Given the description of an element on the screen output the (x, y) to click on. 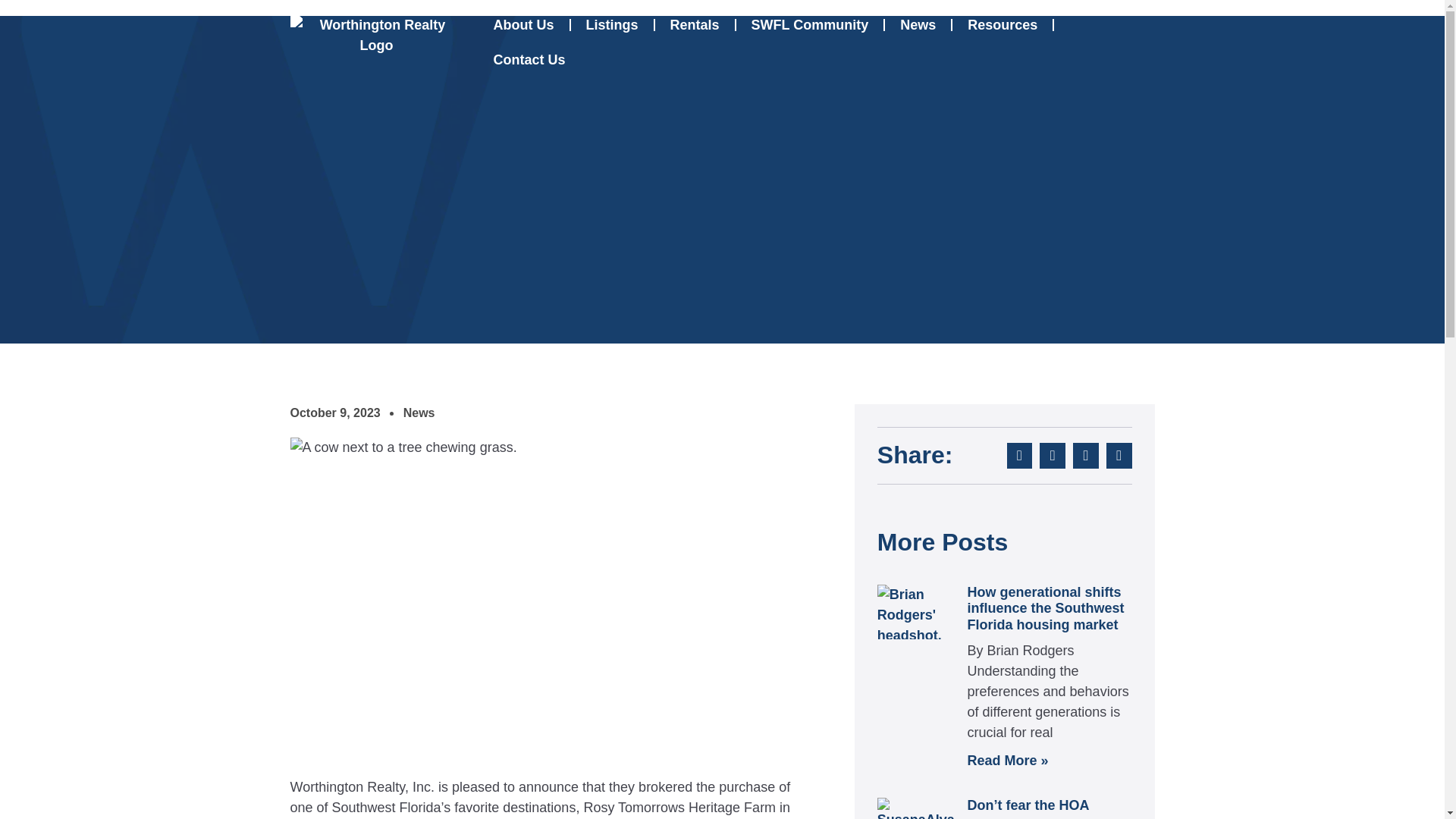
October 9, 2023 (334, 413)
SWFL Community (809, 24)
About Us (523, 24)
News (419, 412)
Contact Us (528, 59)
Rentals (695, 24)
Resources (1002, 24)
News (917, 24)
Listings (611, 24)
